Given the description of an element on the screen output the (x, y) to click on. 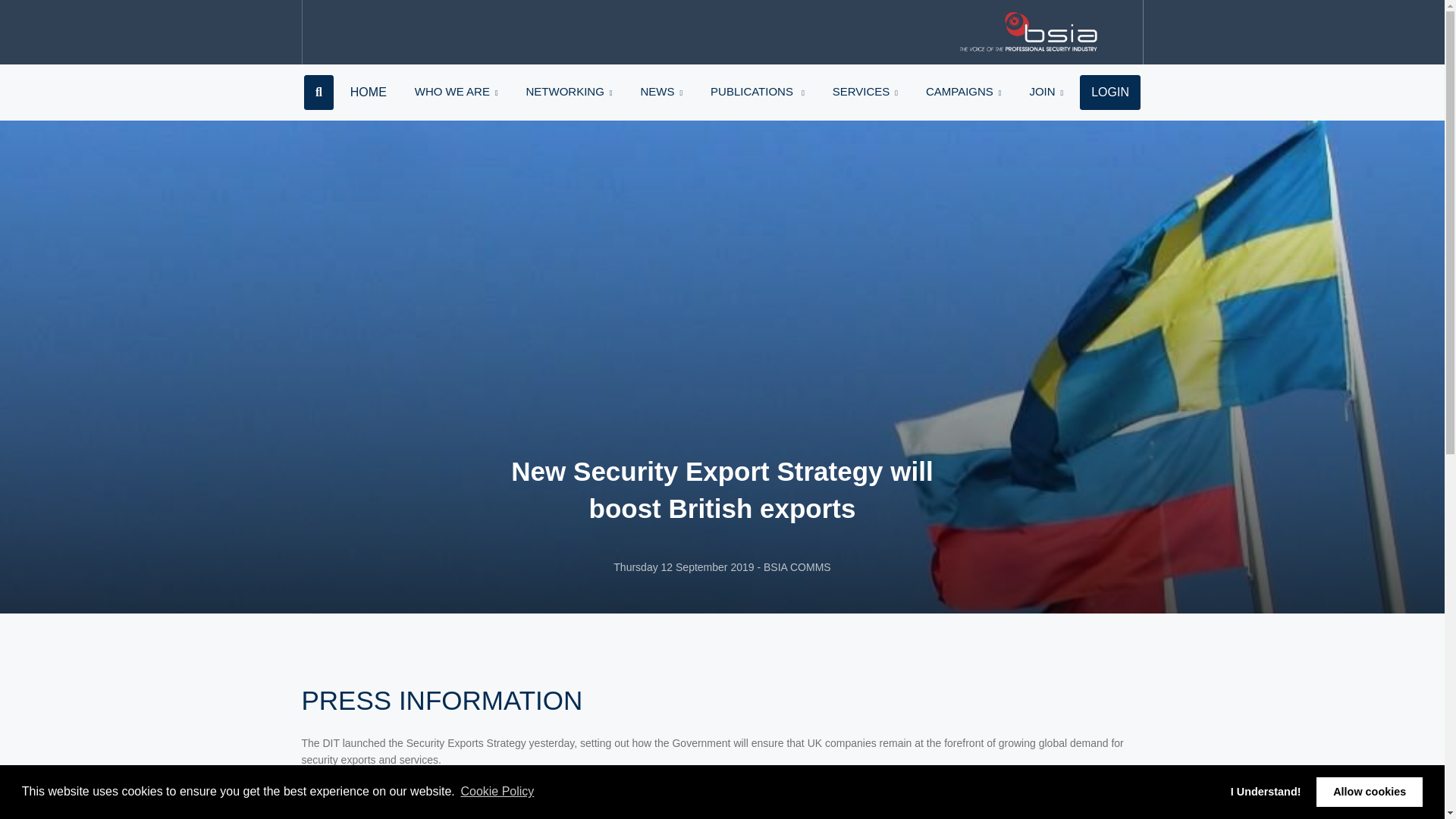
HOME (367, 92)
NETWORKING (568, 91)
CAMPAIGNS (963, 91)
Networking (568, 91)
I Understand! (1265, 791)
WHO WE ARE (456, 91)
PUBLICATIONS (757, 91)
News (661, 91)
JOIN (1046, 91)
SERVICES (864, 91)
NEWS (661, 91)
Publications  (757, 91)
Home (367, 92)
Allow cookies (1369, 791)
Who we are (456, 91)
